Given the description of an element on the screen output the (x, y) to click on. 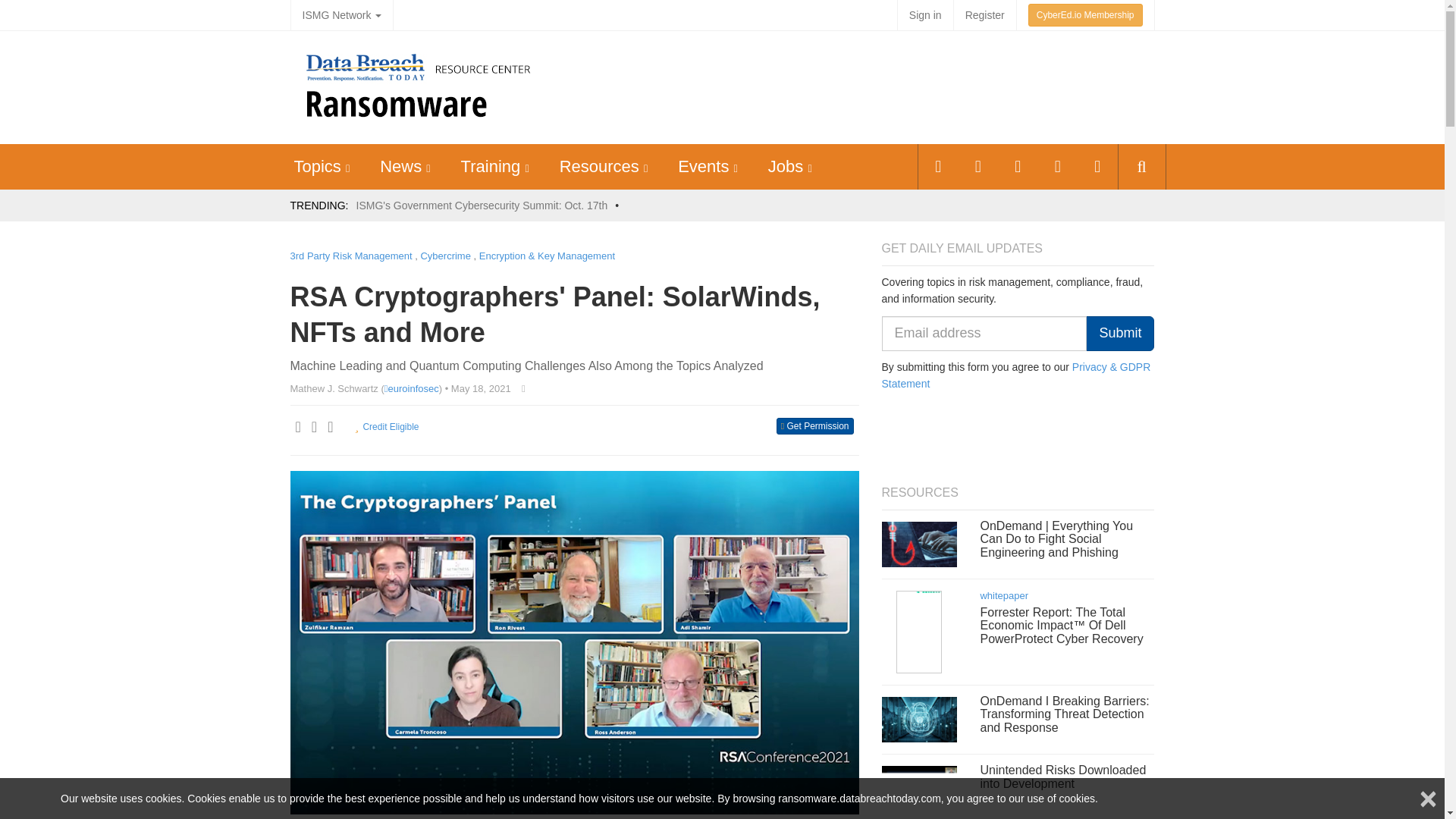
Topics (317, 166)
Sign in (925, 15)
Register (984, 15)
News (401, 166)
CyberEd.io Membership (1084, 15)
ISMG Network (341, 15)
